Given the description of an element on the screen output the (x, y) to click on. 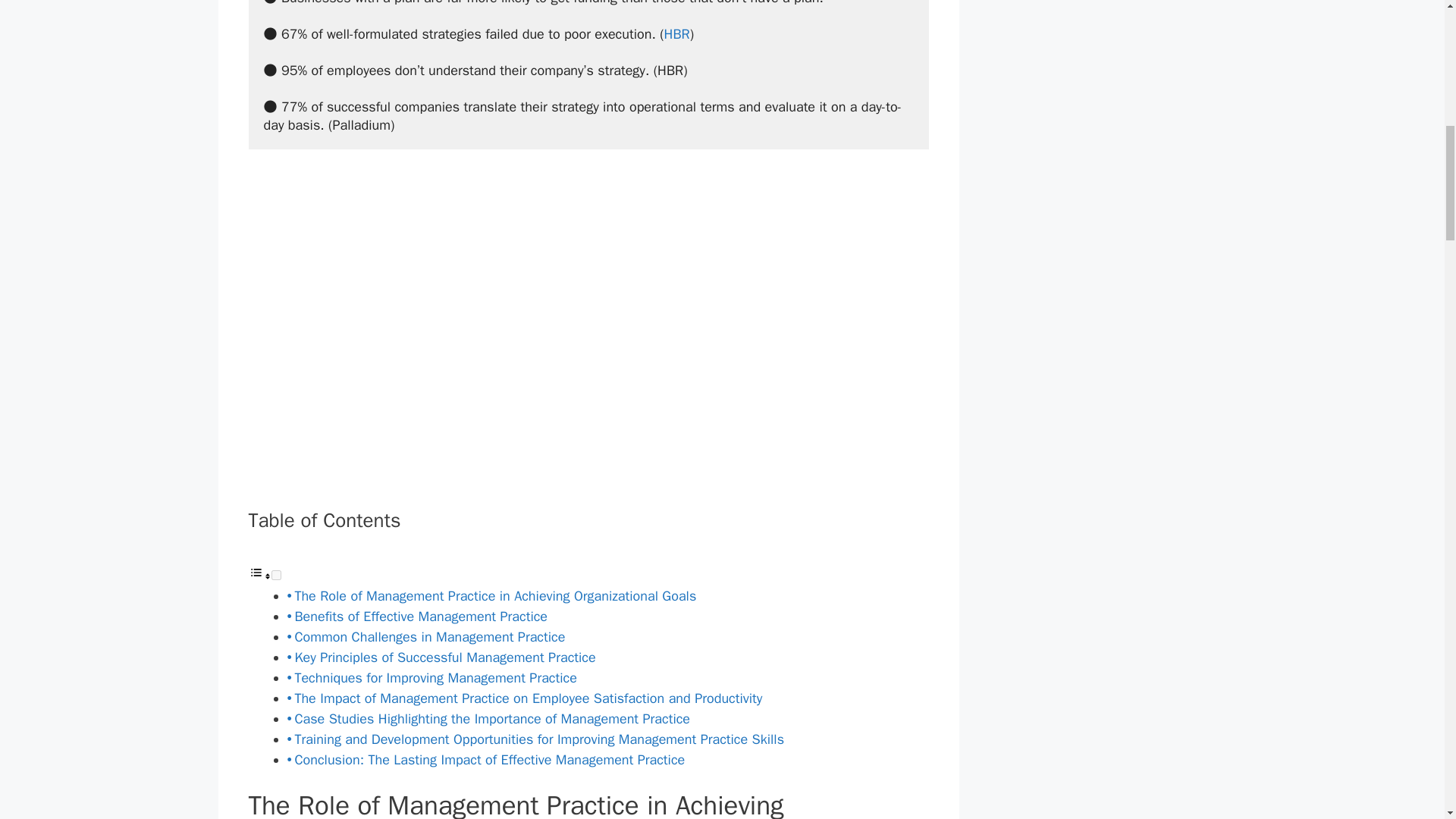
Key Principles of Successful Management Practice (444, 657)
Benefits of Effective Management Practice (420, 616)
